Given the description of an element on the screen output the (x, y) to click on. 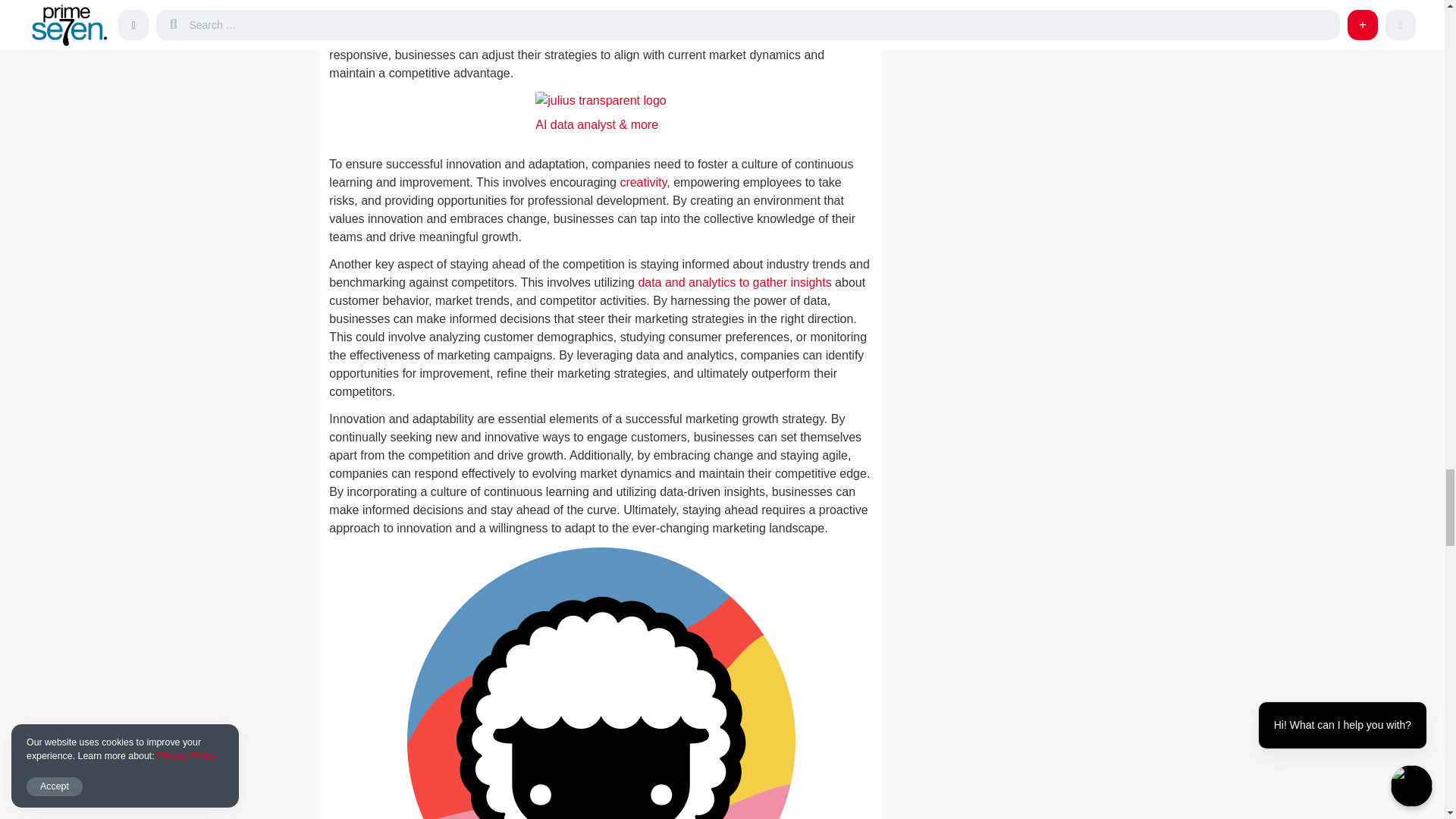
julius transparent head (600, 100)
taskade-circle-icon (600, 683)
